Given the description of an element on the screen output the (x, y) to click on. 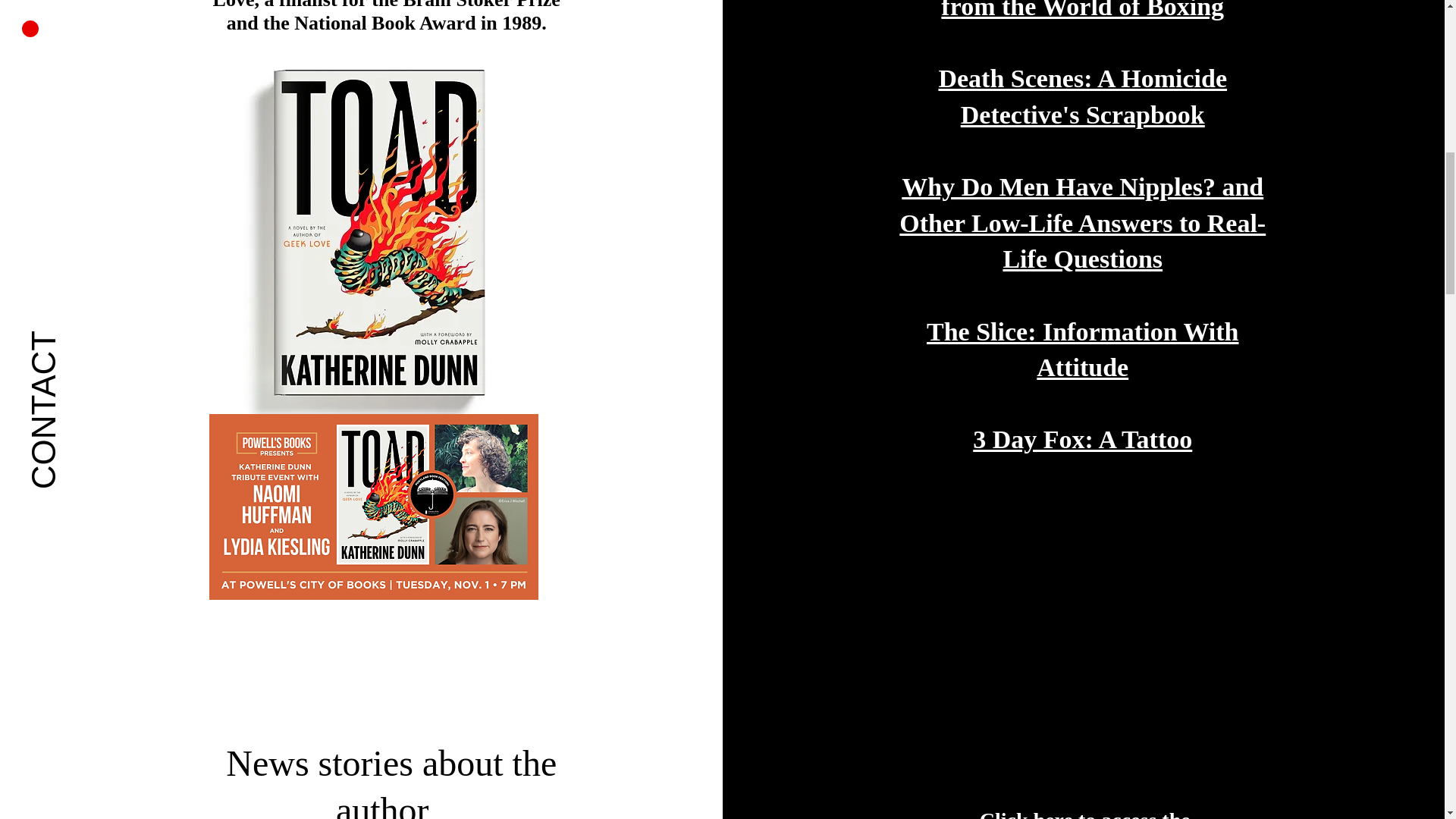
3 Day Fox: A Tattoo (1082, 439)
The Slice: Information With Attitude (1082, 349)
0.png (373, 506)
Death Scenes: A Homicide Detective's Scrapbook (1082, 95)
One Ring Circus: Dispatches from the World of Boxing (1082, 10)
